Given the description of an element on the screen output the (x, y) to click on. 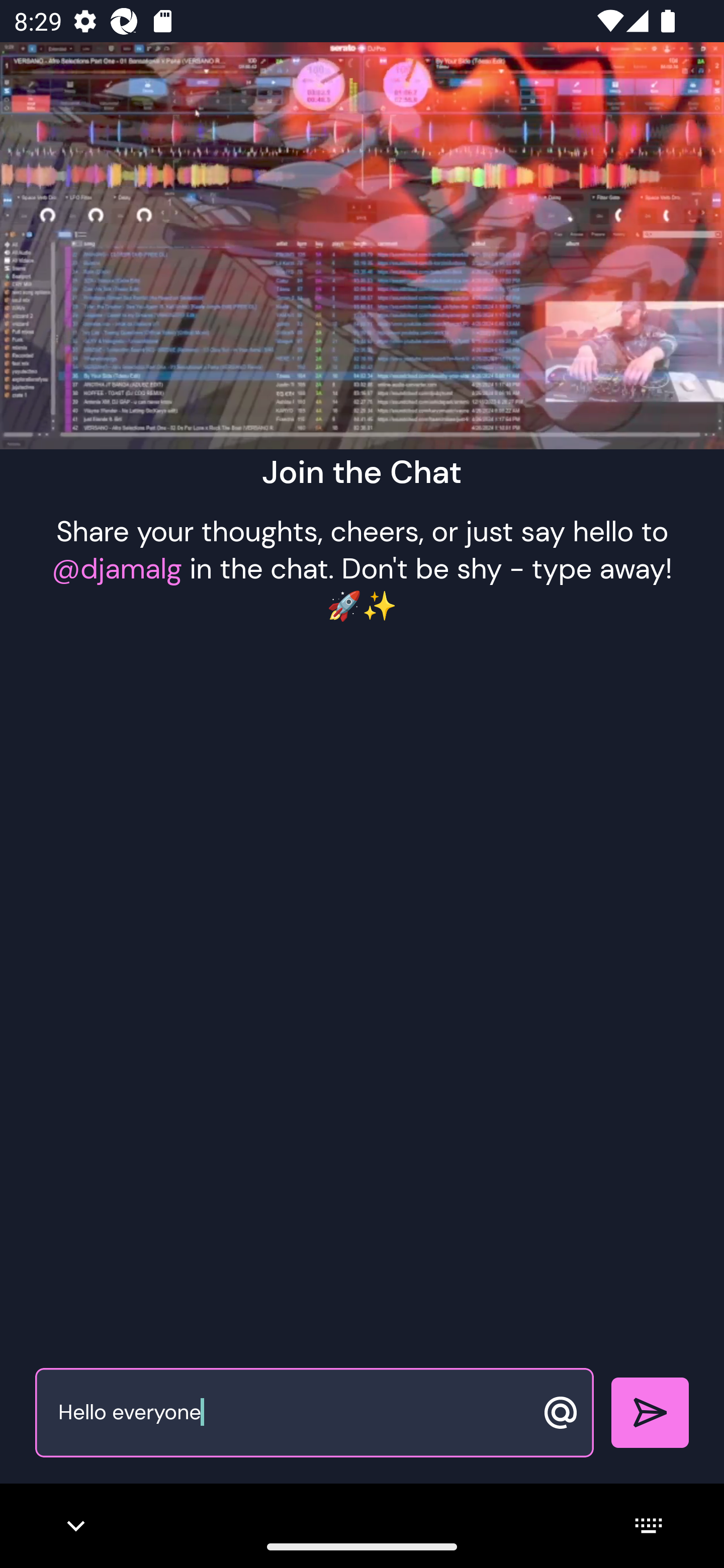
Hello everyone (292, 1413)
